Given the description of an element on the screen output the (x, y) to click on. 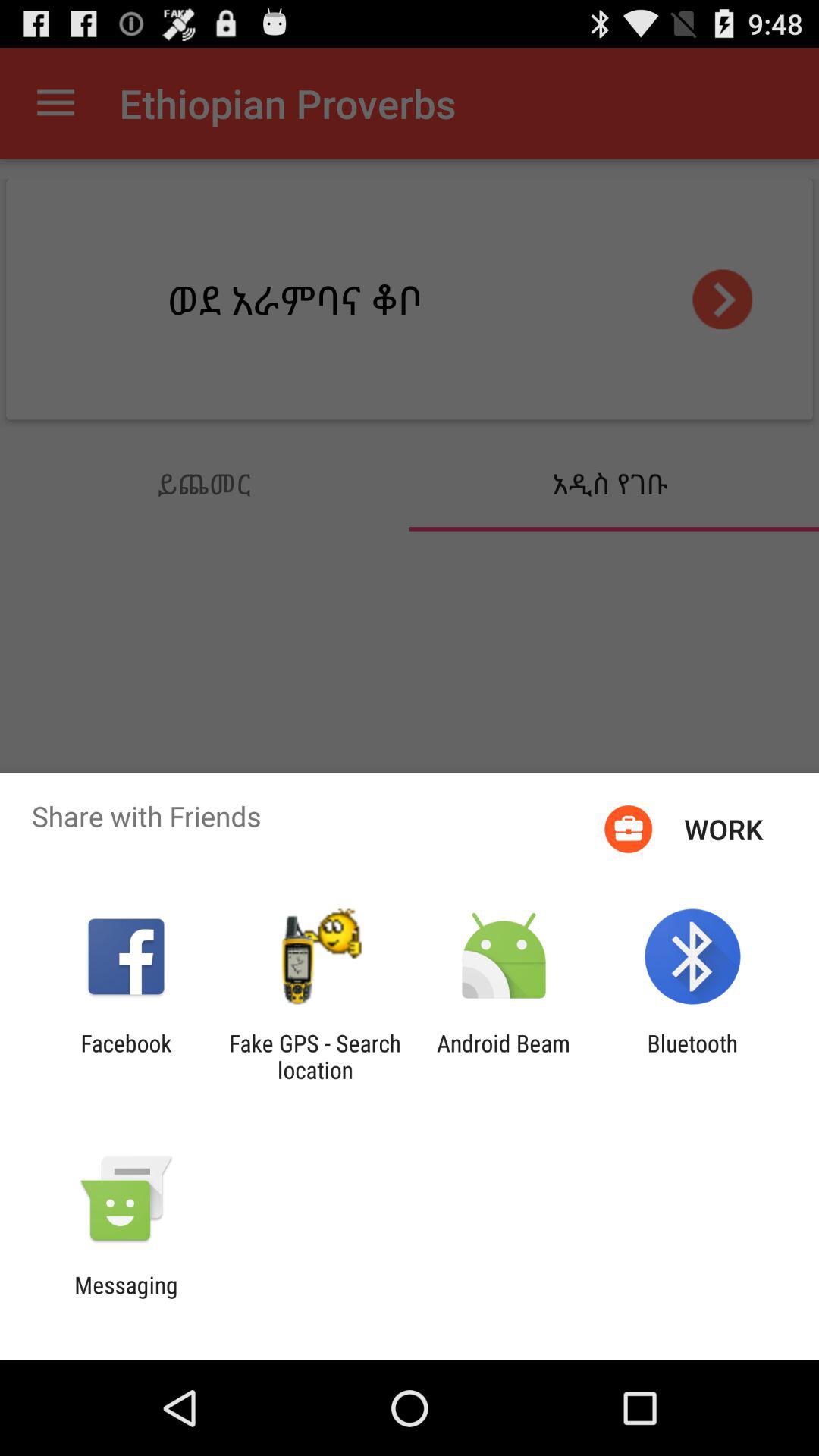
scroll until android beam (503, 1056)
